Given the description of an element on the screen output the (x, y) to click on. 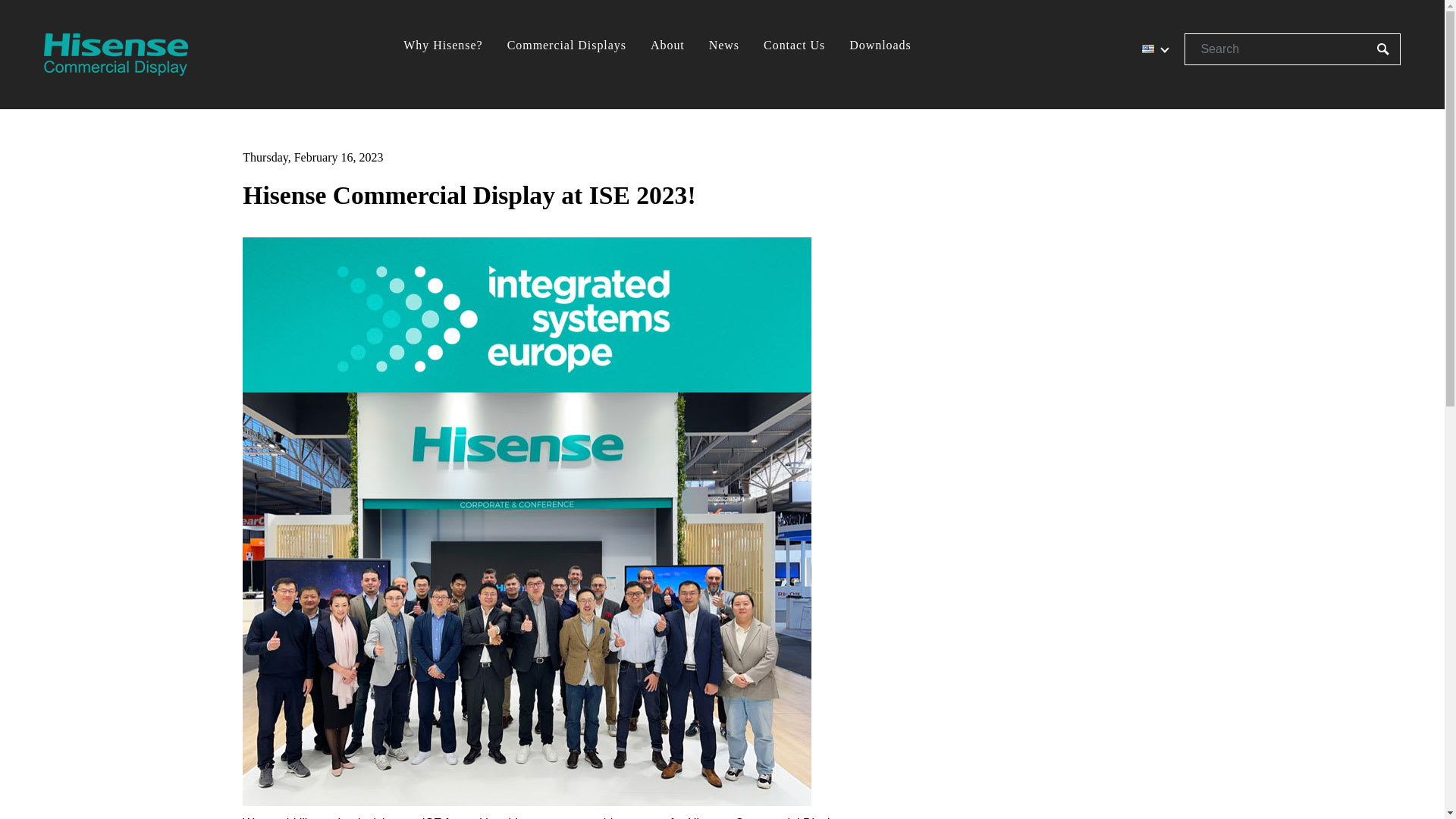
Why Hisense? (443, 45)
Why Hisense? (443, 45)
About (668, 45)
Commercial Displays (567, 45)
Hisense Logo (115, 54)
Contact Us (794, 45)
News (724, 45)
Downloads (880, 45)
